Given the description of an element on the screen output the (x, y) to click on. 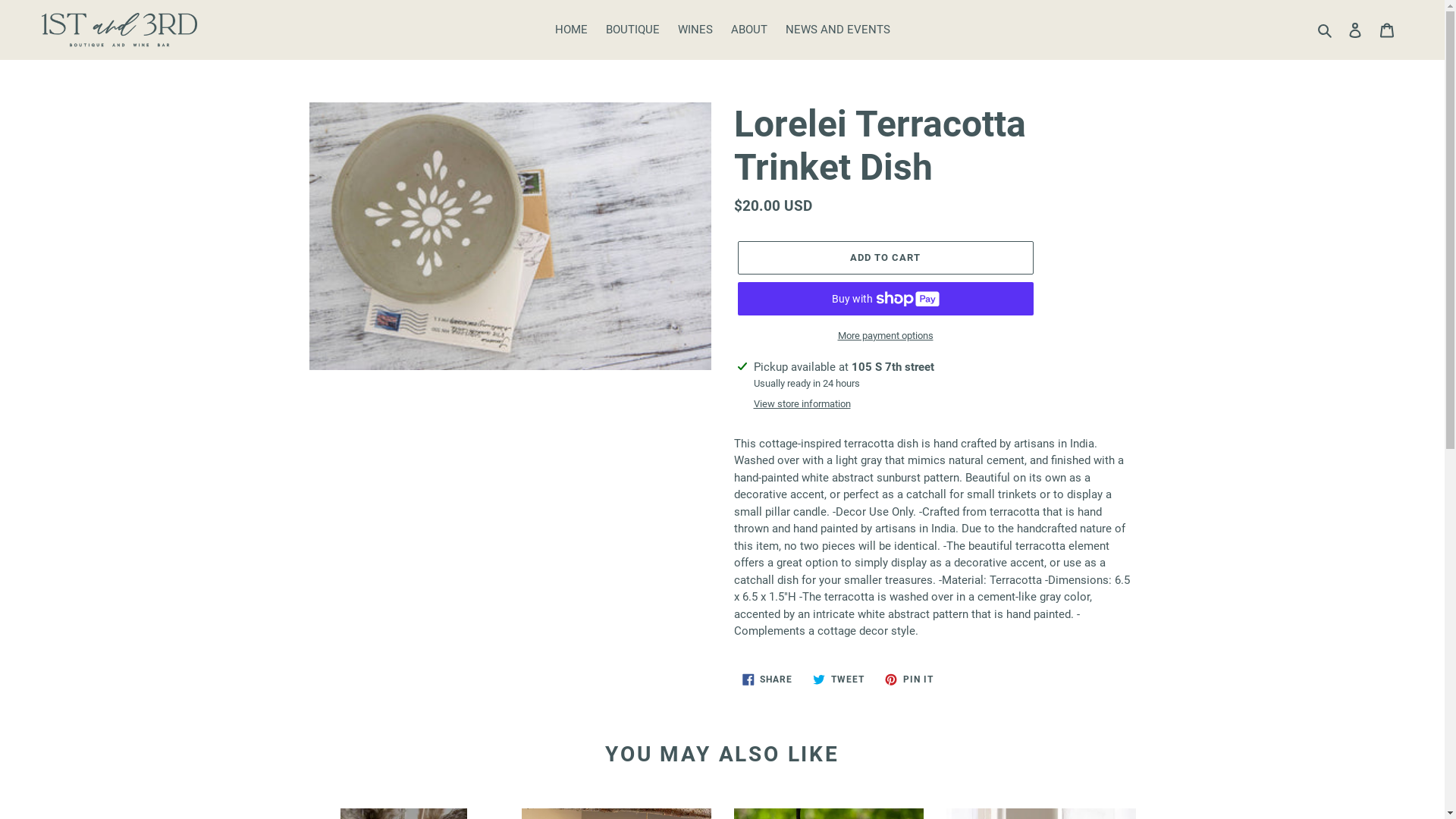
Search Element type: text (1325, 29)
SHARE
SHARE ON FACEBOOK Element type: text (767, 679)
TWEET
TWEET ON TWITTER Element type: text (838, 679)
Log in Element type: text (1355, 29)
PIN IT
PIN ON PINTEREST Element type: text (908, 679)
View store information Element type: text (801, 403)
ADD TO CART Element type: text (884, 257)
More payment options Element type: text (884, 335)
HOME Element type: text (571, 29)
BOUTIQUE Element type: text (631, 29)
NEWS AND EVENTS Element type: text (837, 29)
Cart Element type: text (1386, 29)
WINES Element type: text (695, 29)
ABOUT Element type: text (749, 29)
